Given the description of an element on the screen output the (x, y) to click on. 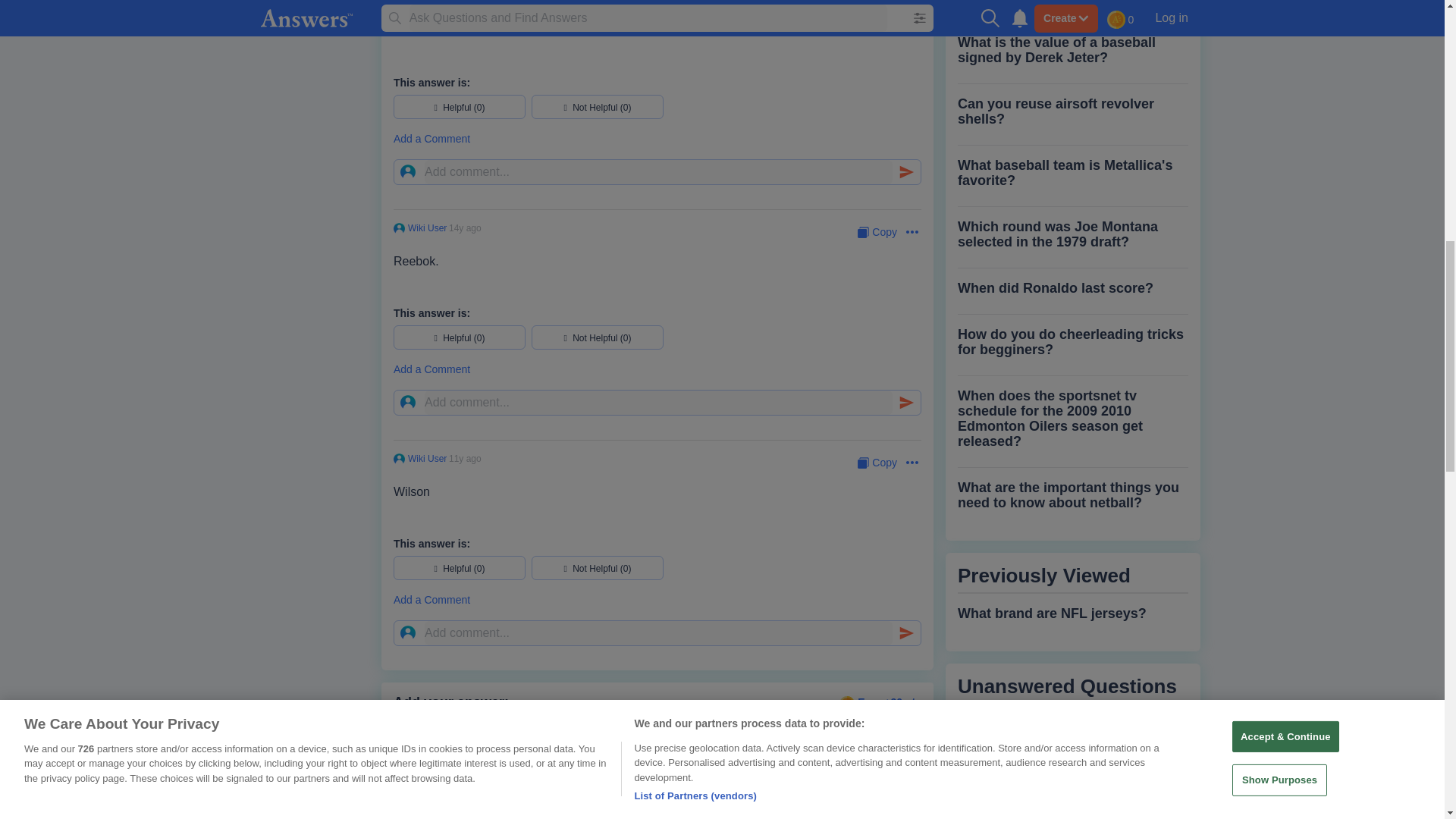
2012-09-13 18:42:51 (464, 458)
2010-05-13 07:13:30 (464, 227)
2011-06-24 19:36:34 (464, 1)
